Given the description of an element on the screen output the (x, y) to click on. 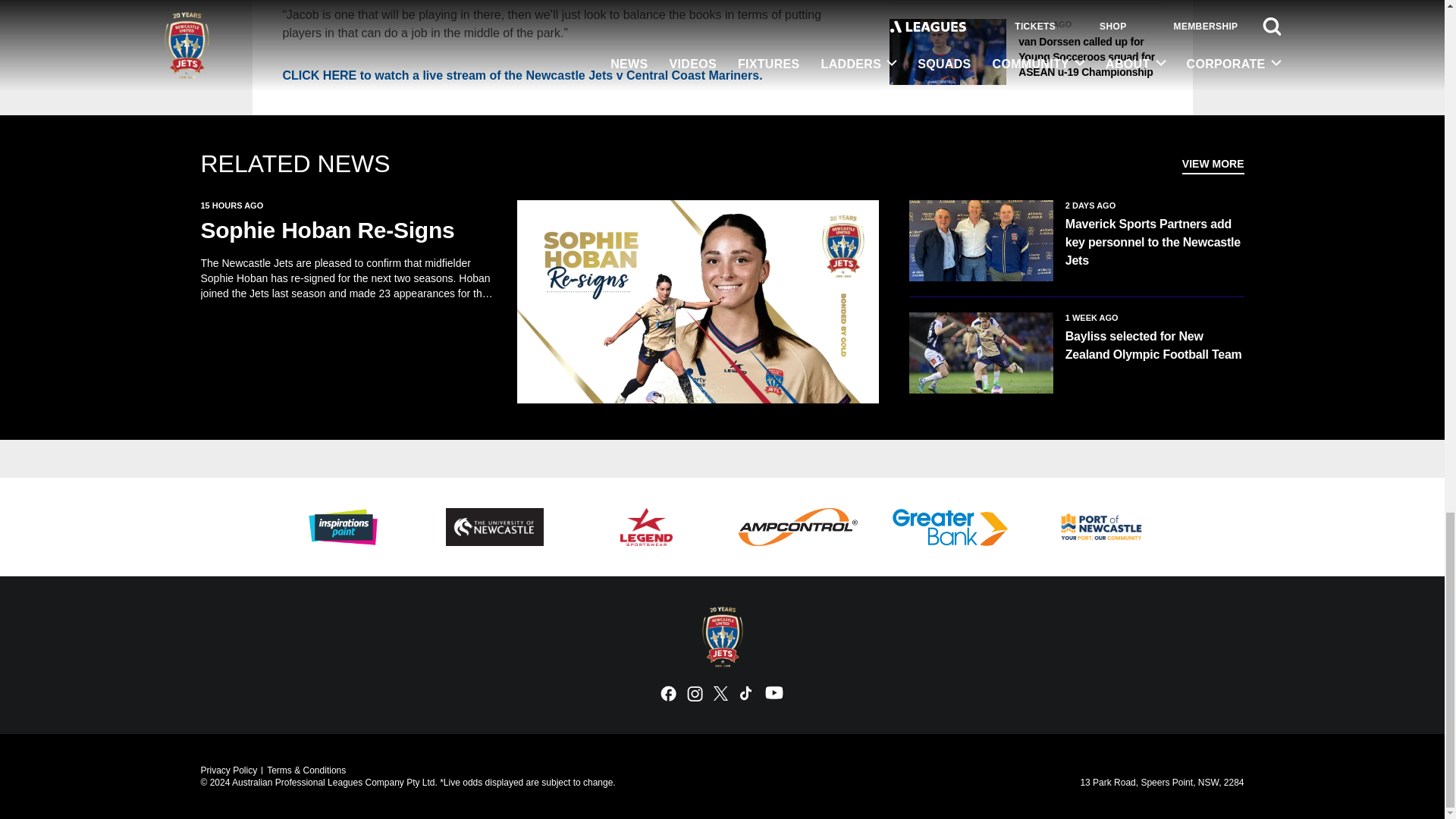
Port of Newcastle (1101, 526)
University of Newcastle (493, 526)
AMP Control (797, 526)
Legend (645, 526)
Greater Bank (949, 526)
Inspirations Paint (342, 526)
